Given the description of an element on the screen output the (x, y) to click on. 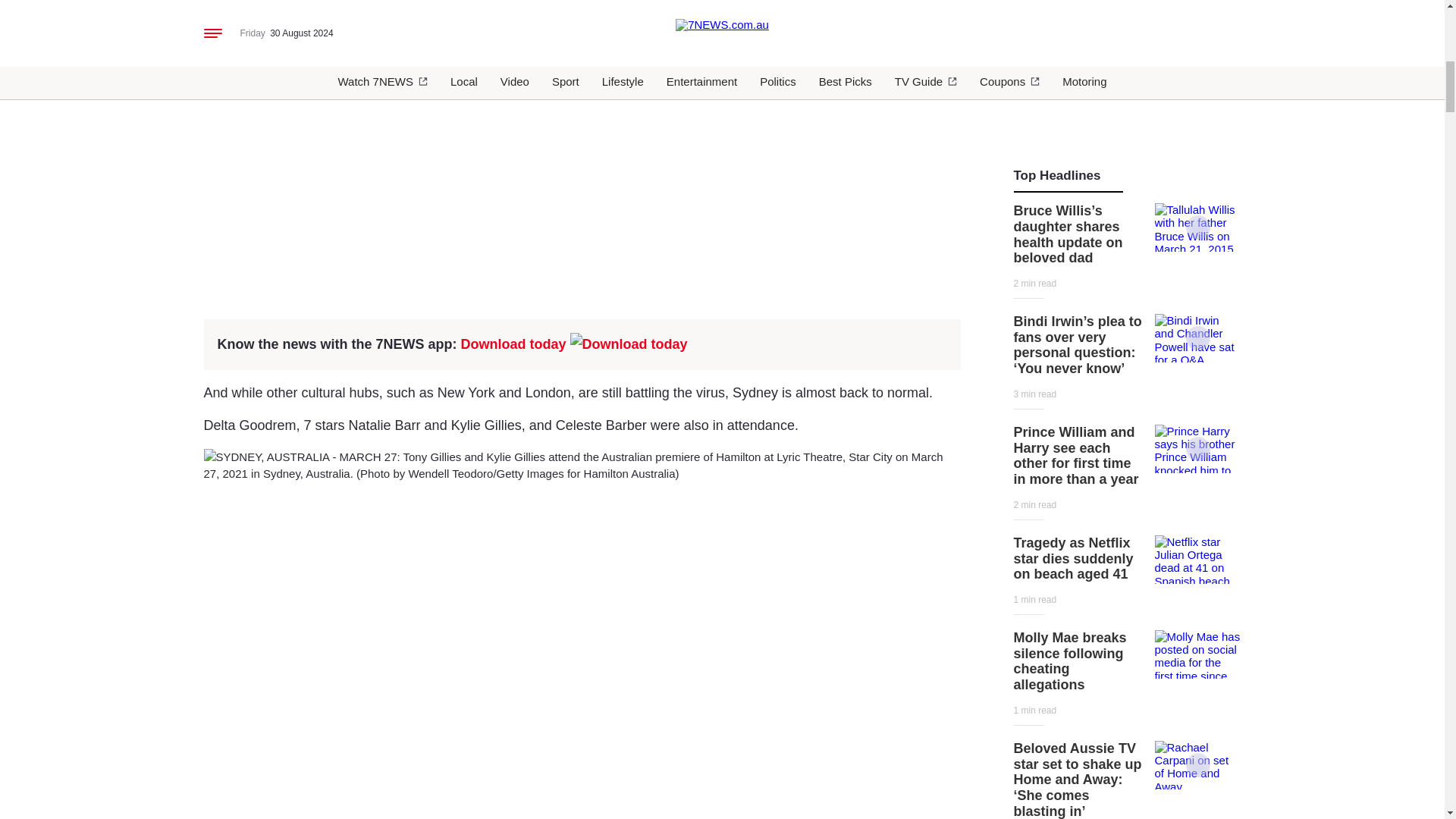
Video (1197, 227)
Video (1197, 764)
Video (1197, 448)
Video (1197, 337)
